Given the description of an element on the screen output the (x, y) to click on. 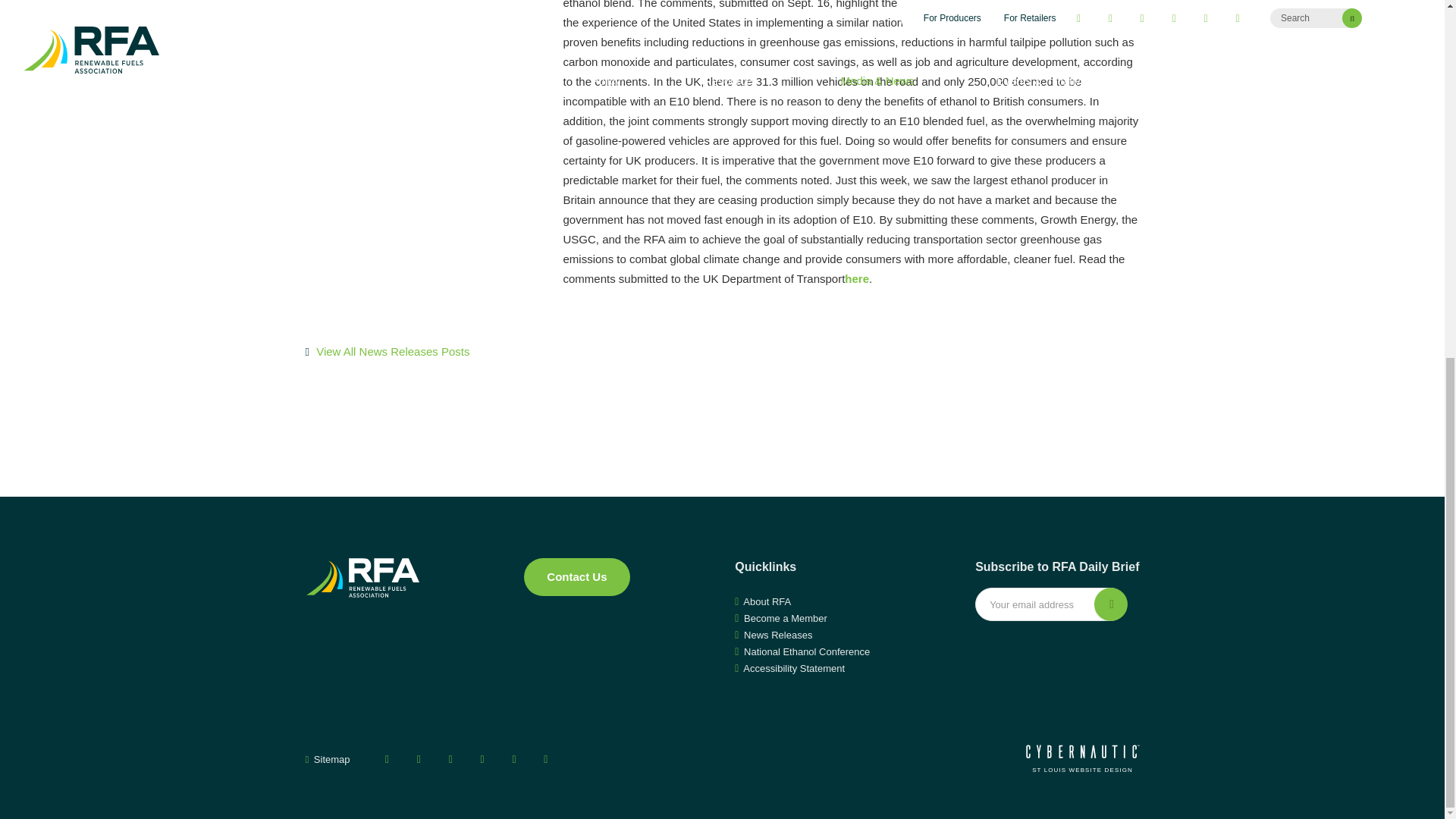
Instagram (481, 758)
Facebook (386, 758)
YouTube (450, 758)
Flickr (545, 758)
LinkedIn (513, 758)
Home (361, 577)
Twitter (418, 758)
